Given the description of an element on the screen output the (x, y) to click on. 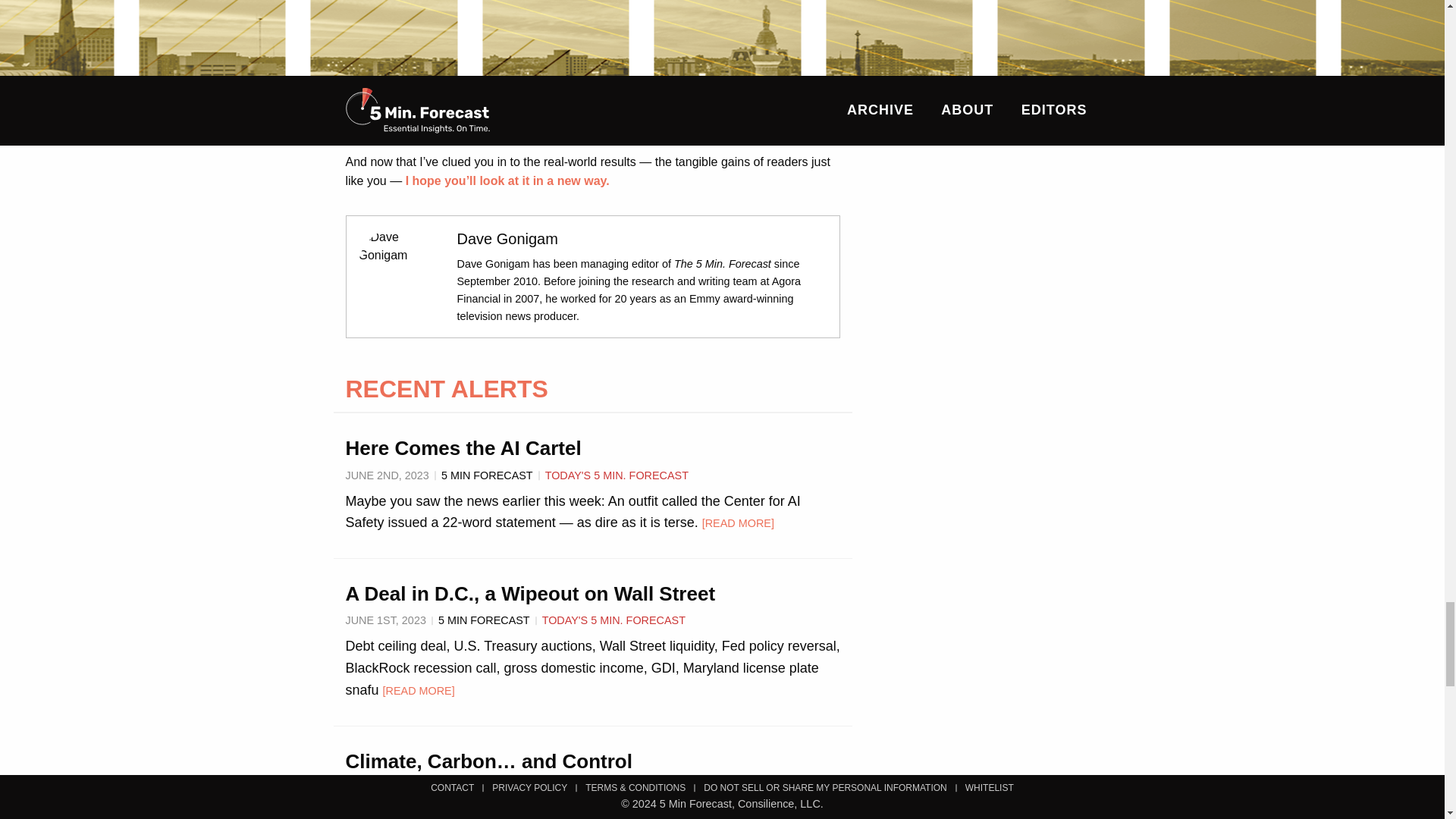
TODAY'S 5 MIN. FORECAST (613, 620)
TODAY'S 5 MIN. FORECAST (613, 787)
TODAY'S 5 MIN. FORECAST (616, 475)
Permanent Link to A Deal in D.C., a Wipeout on Wall Street (531, 593)
READ MORE (418, 690)
Permanent Link to Here Comes the AI Cartel (463, 447)
this message (498, 110)
READ MORE (737, 522)
A Deal in D.C., a Wipeout on Wall Street (531, 593)
Here Comes the AI Cartel (463, 447)
